Given the description of an element on the screen output the (x, y) to click on. 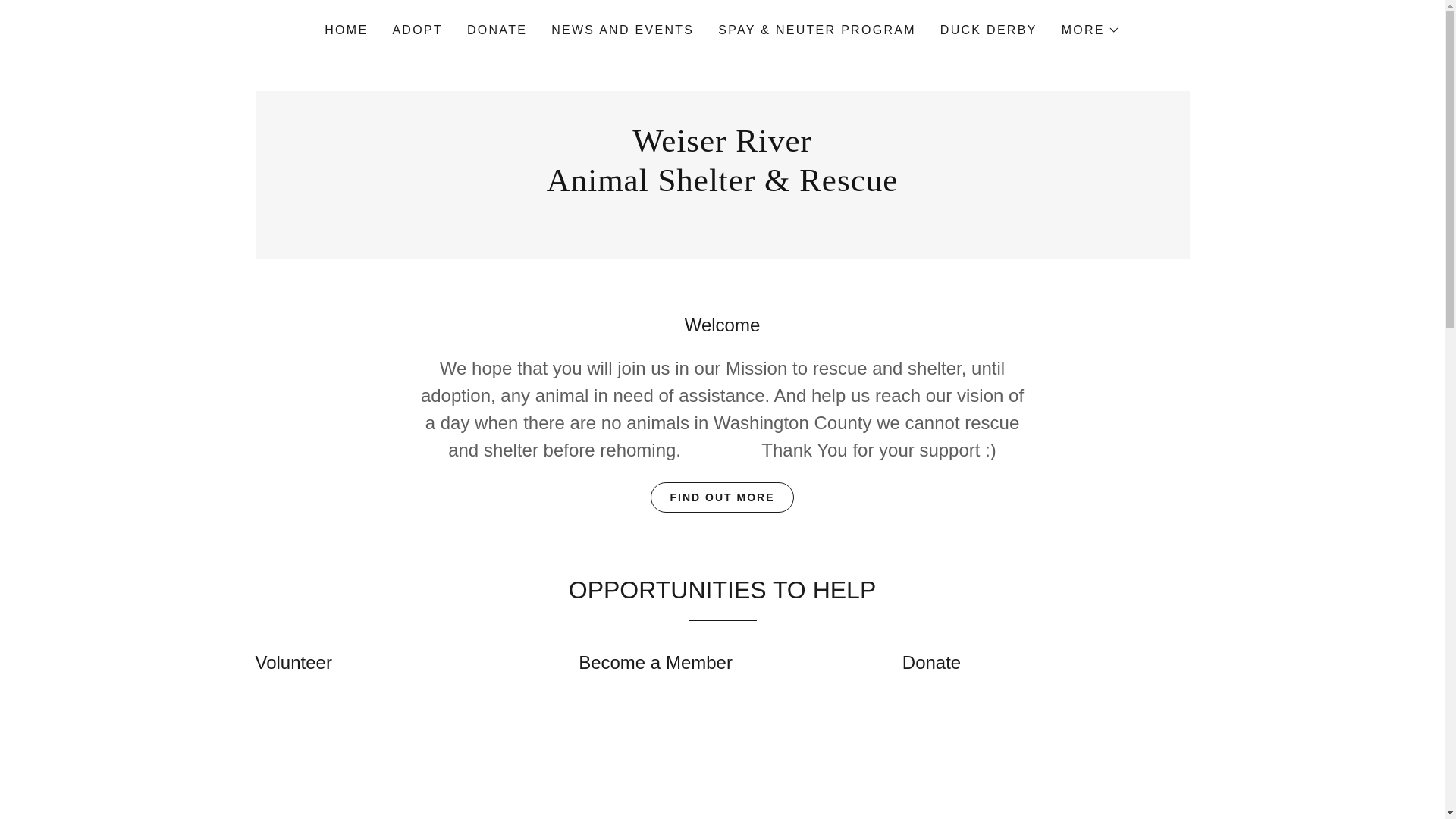
ADOPT (416, 30)
DUCK DERBY (989, 30)
HOME (346, 30)
DONATE (497, 30)
MORE (1090, 30)
FIND OUT MORE (721, 497)
NEWS AND EVENTS (622, 30)
